Given the description of an element on the screen output the (x, y) to click on. 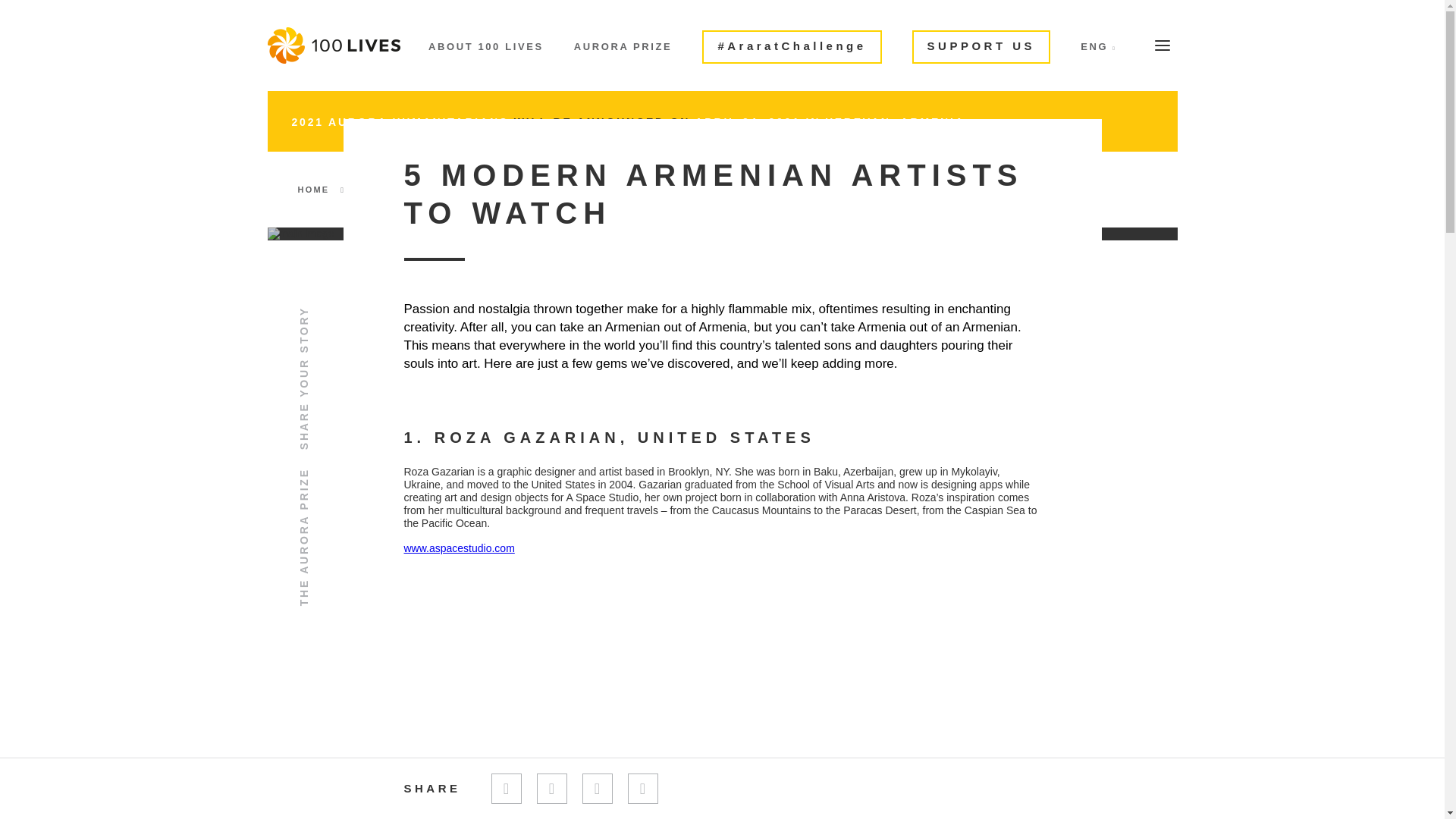
Share on Facebook (552, 788)
Share via E-mail (597, 788)
About 100 LIVES (485, 46)
ABOUT 100 LIVES (485, 46)
Share on Twitter (506, 788)
AURORA PRIZE (622, 46)
100 Lives (332, 45)
Share on Google Plus (642, 788)
